Given the description of an element on the screen output the (x, y) to click on. 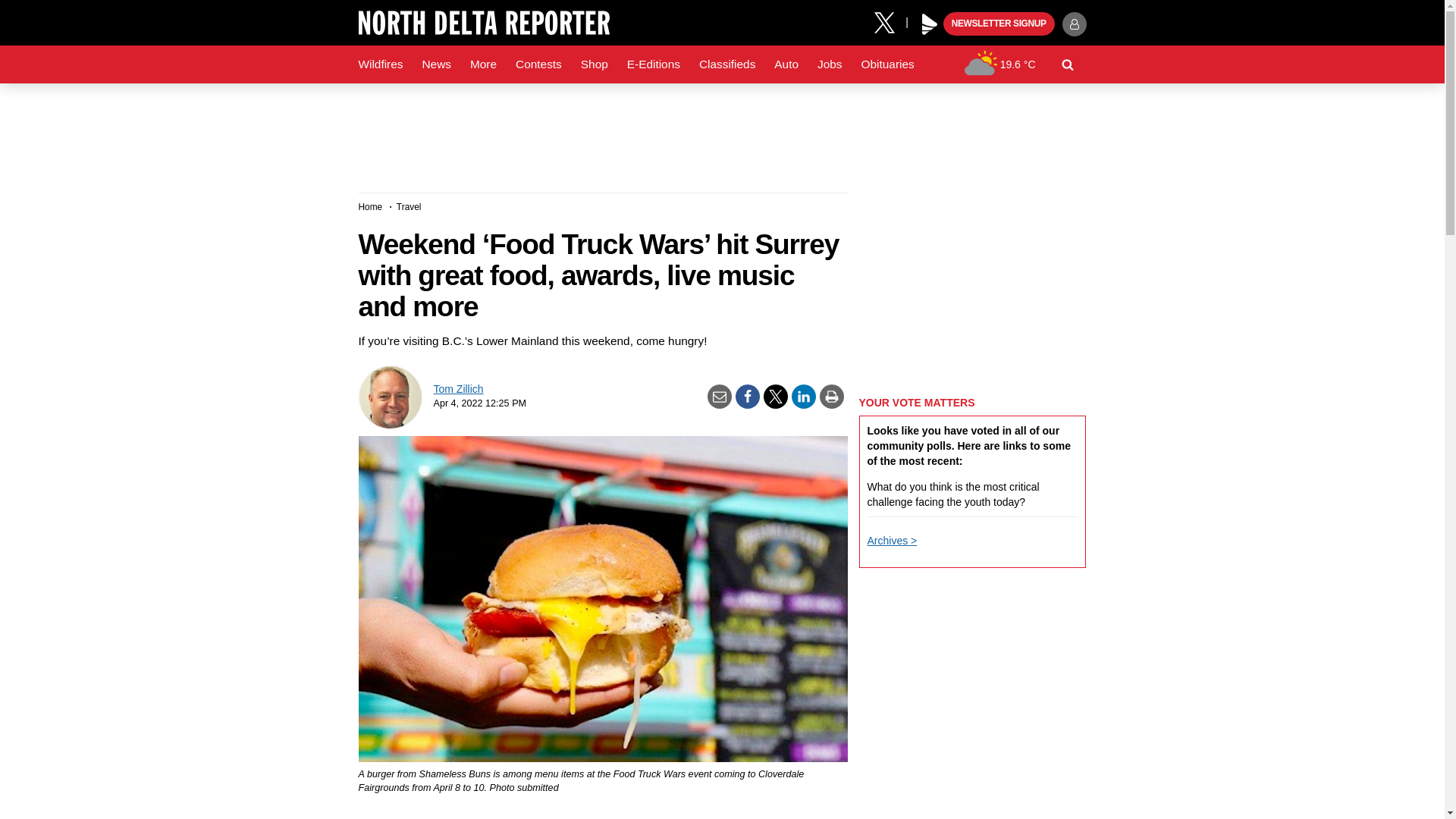
NEWSLETTER SIGNUP (998, 24)
Play (929, 24)
Wildfires (380, 64)
News (435, 64)
Black Press Media (929, 24)
X (889, 21)
